Given the description of an element on the screen output the (x, y) to click on. 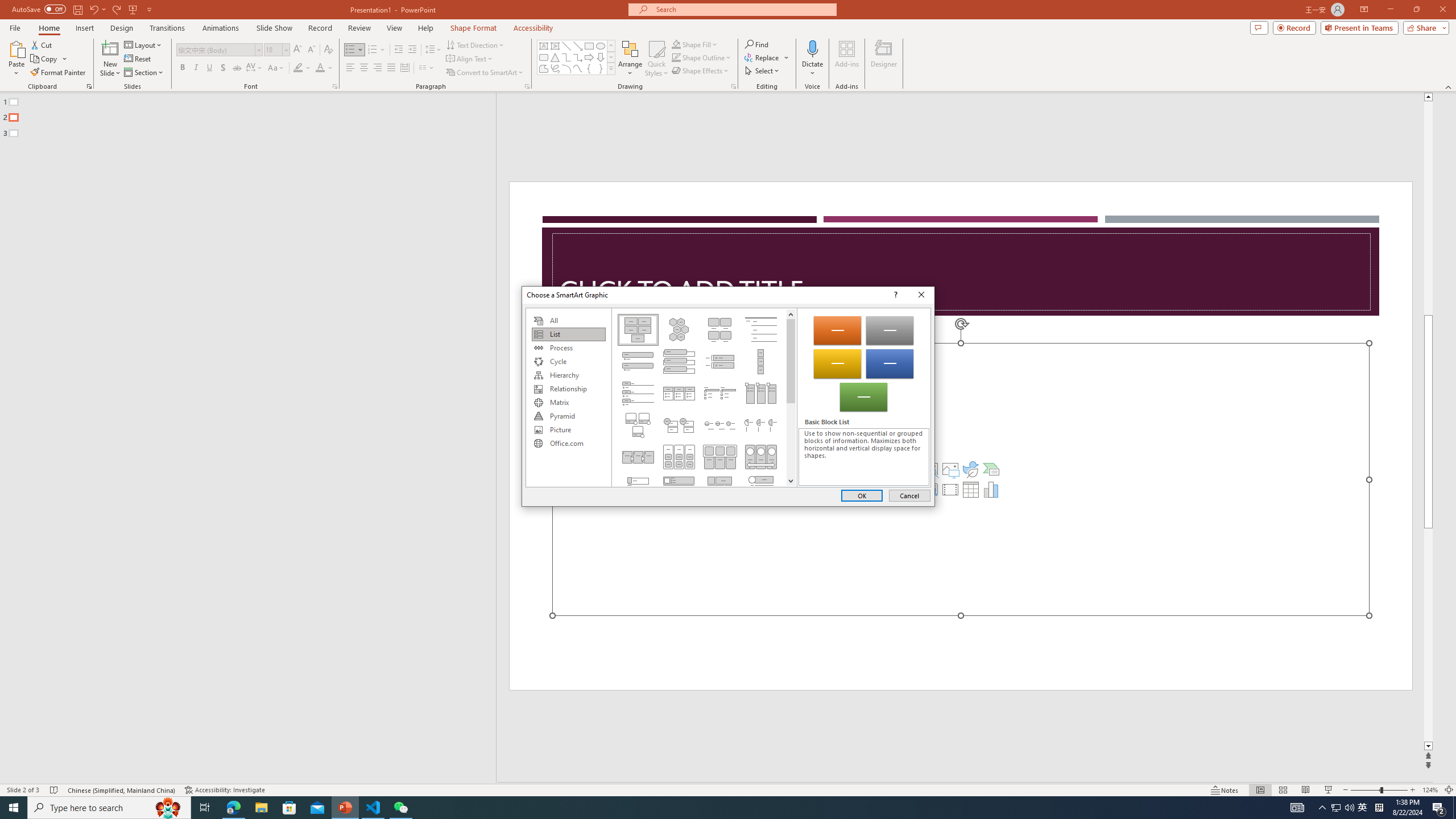
Share (1423, 27)
Microsoft Edge - 1 running window (1335, 807)
Format Painter (233, 807)
Accessibility (58, 72)
Matrix (533, 28)
Text Direction (568, 402)
Find... (476, 44)
Insert (756, 44)
Freeform: Shape (83, 28)
Arc (543, 68)
Decrease Indent (566, 68)
Vertical Picture Accent List (398, 49)
Picture Strips (761, 489)
